Given the description of an element on the screen output the (x, y) to click on. 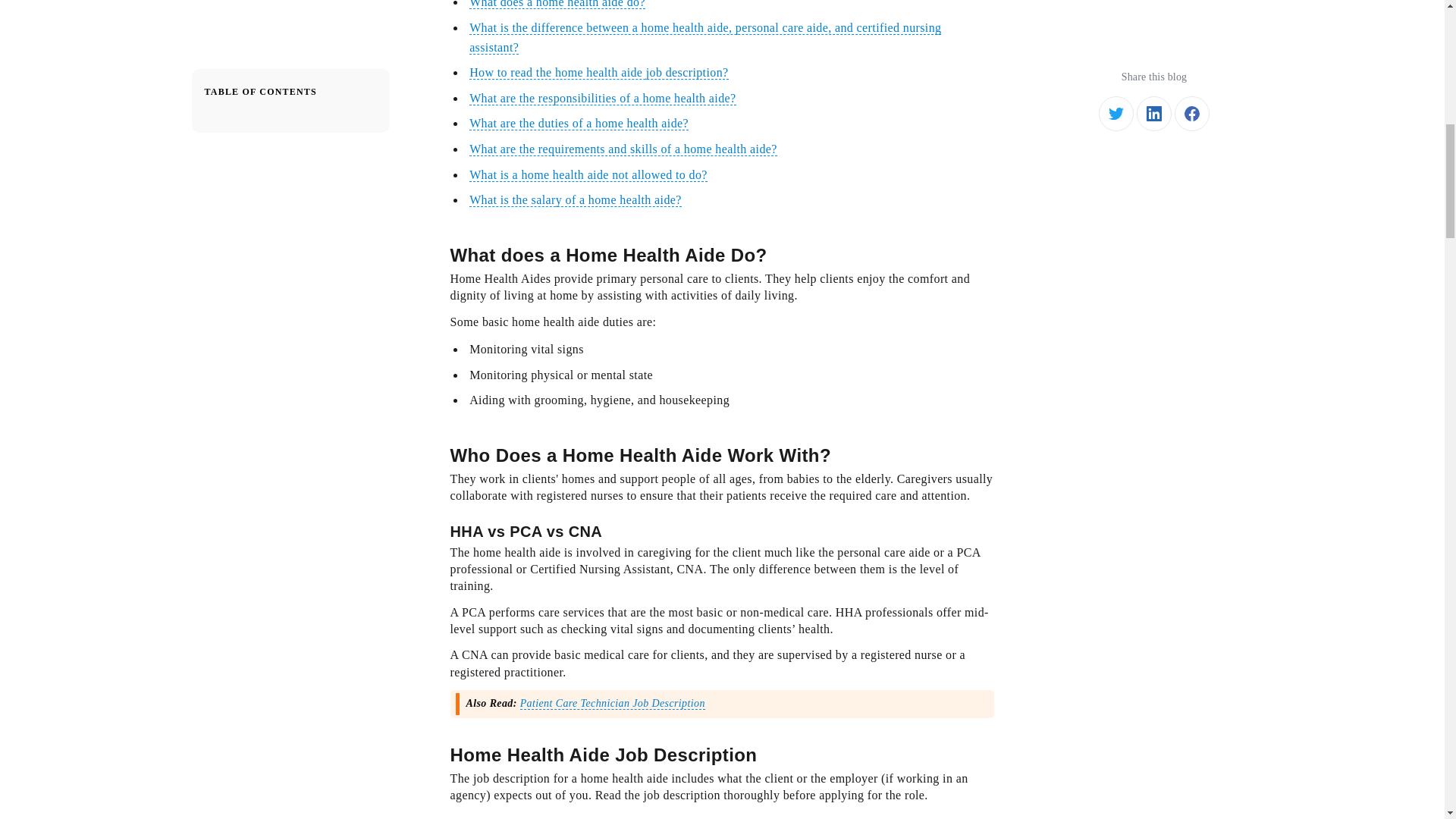
What is a home health aide not allowed to do? (587, 174)
What does a home health aide do? (556, 4)
How to read the home health aide job description? (598, 72)
What is the salary of a home health aide? (574, 200)
What are the duties of a home health aide? (578, 123)
What are the requirements and skills of a home health aide? (622, 149)
What are the responsibilities of a home health aide? (601, 98)
Patient Care Technician Job Description (611, 703)
